Given the description of an element on the screen output the (x, y) to click on. 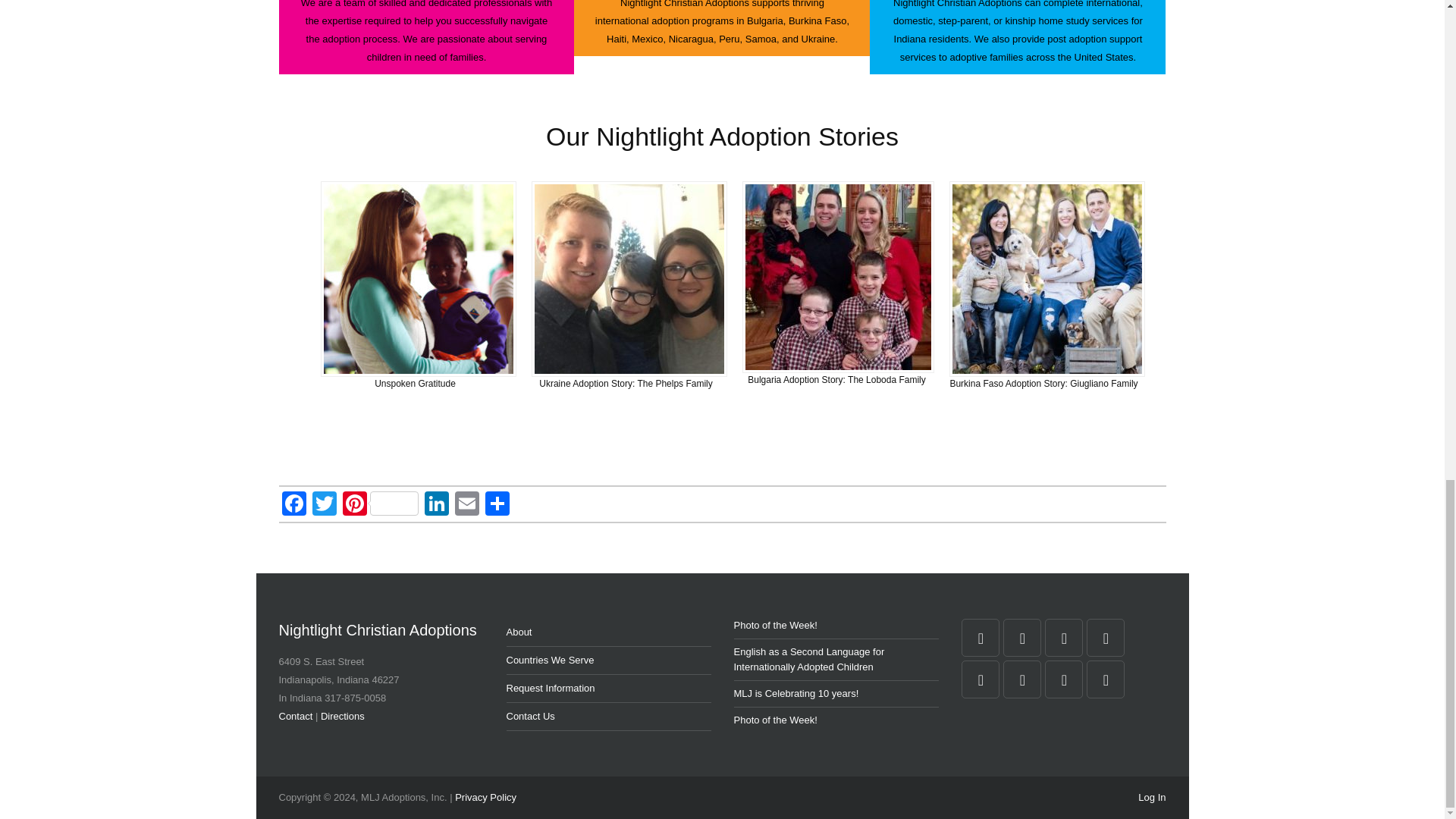
LinkedIn (436, 505)
Directions (342, 715)
Twitter (323, 505)
Facebook (293, 505)
Burkina Faso Adoption Story: Giugliano Family (1043, 383)
Unspoken Gratitude (414, 383)
Nightlight Christian Adoptions (381, 630)
Share (496, 505)
Ukraine Adoption Story: The Phelps Family (625, 383)
Bulgaria Adoption Story: The Loboda Family (837, 379)
Pinterest (380, 505)
Facebook (293, 505)
